Given the description of an element on the screen output the (x, y) to click on. 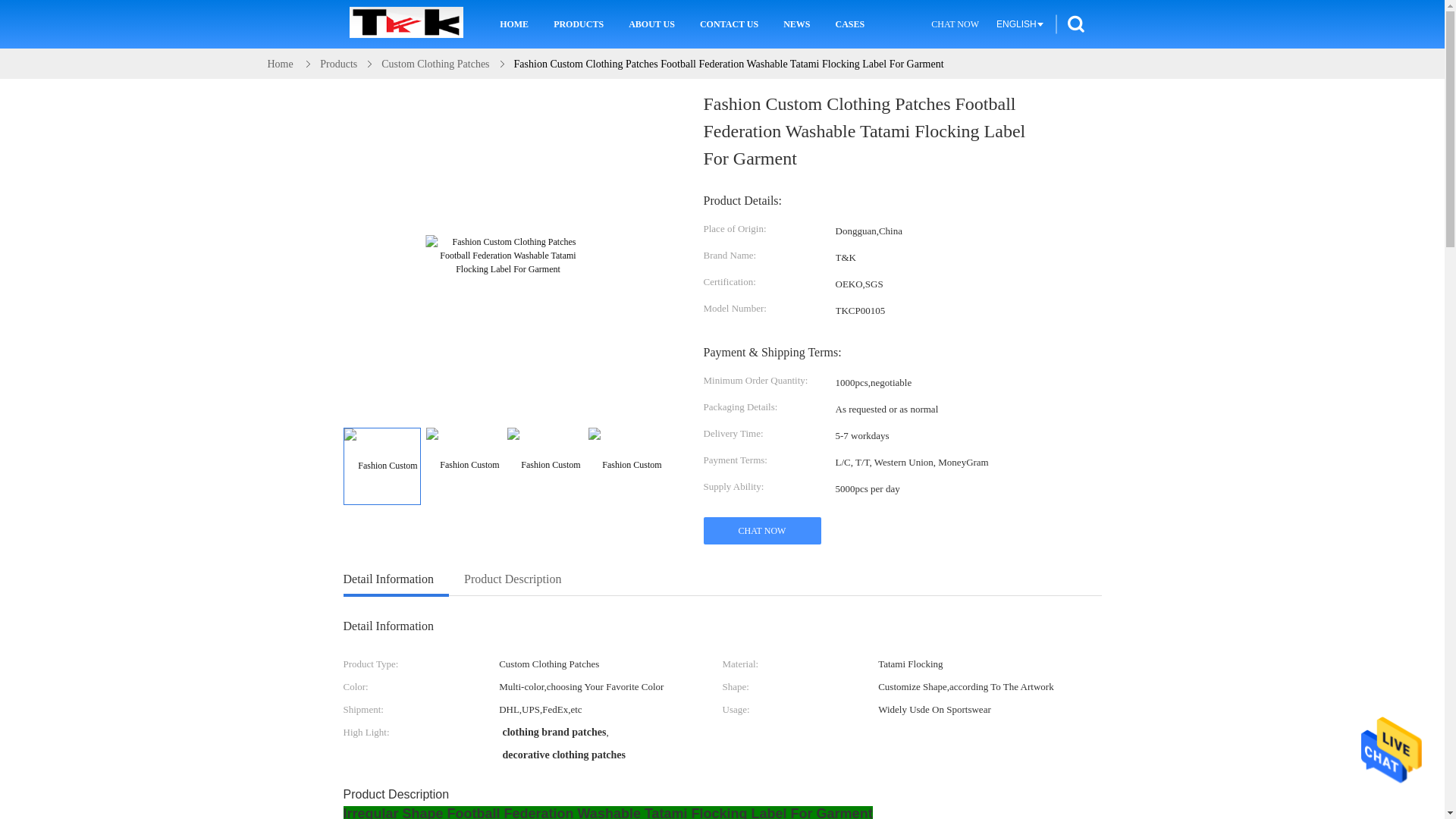
China Custom Clothing Patches manufacturer (406, 23)
PRODUCTS (578, 24)
CHAT NOW (955, 24)
CONTACT US (728, 24)
ABOUT US (651, 24)
